Given the description of an element on the screen output the (x, y) to click on. 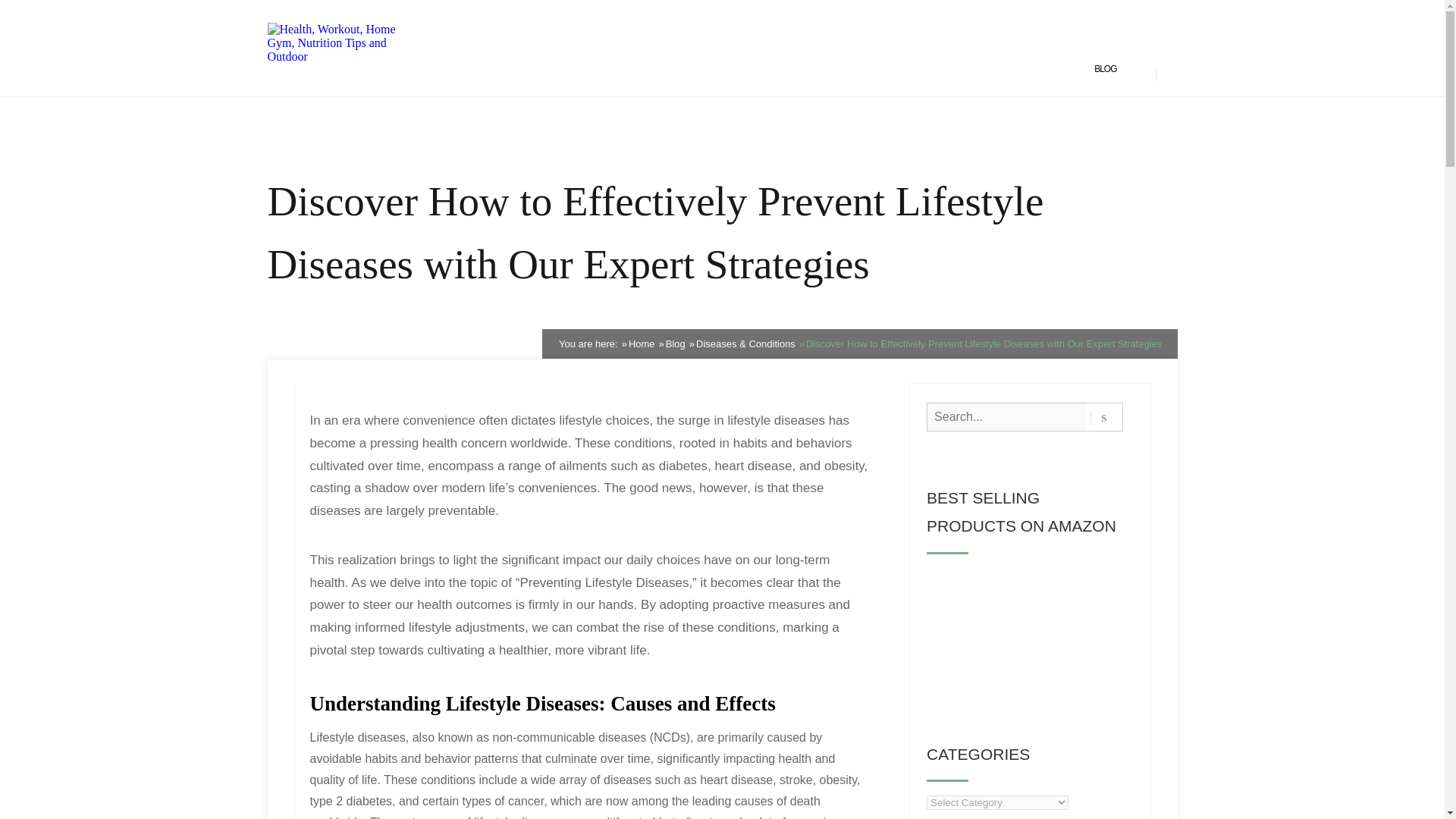
Blog (675, 343)
BLOG (1105, 69)
Home (641, 343)
